Given the description of an element on the screen output the (x, y) to click on. 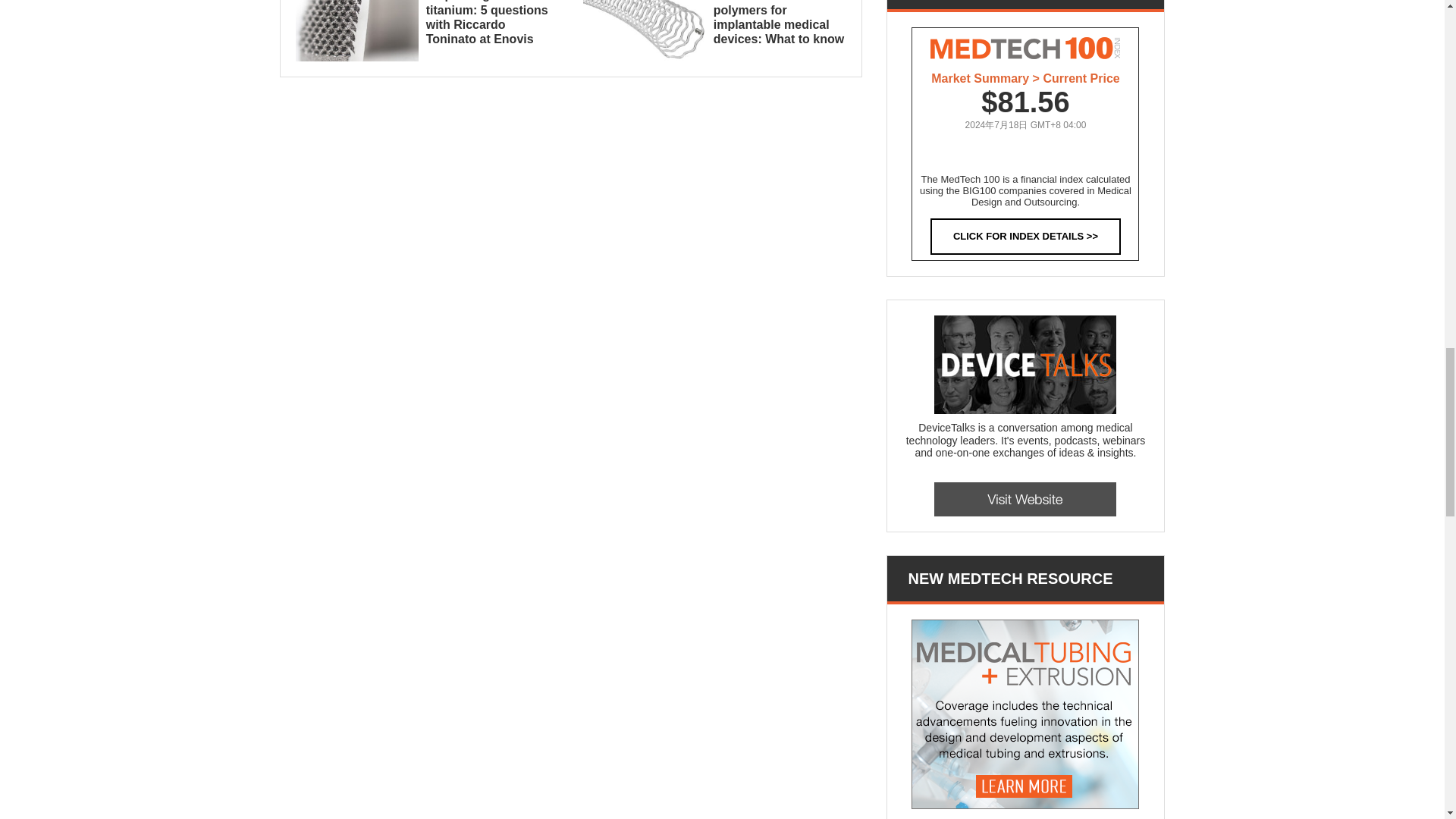
Device Talks (1025, 499)
DeviceTalks (1025, 364)
